Given the description of an element on the screen output the (x, y) to click on. 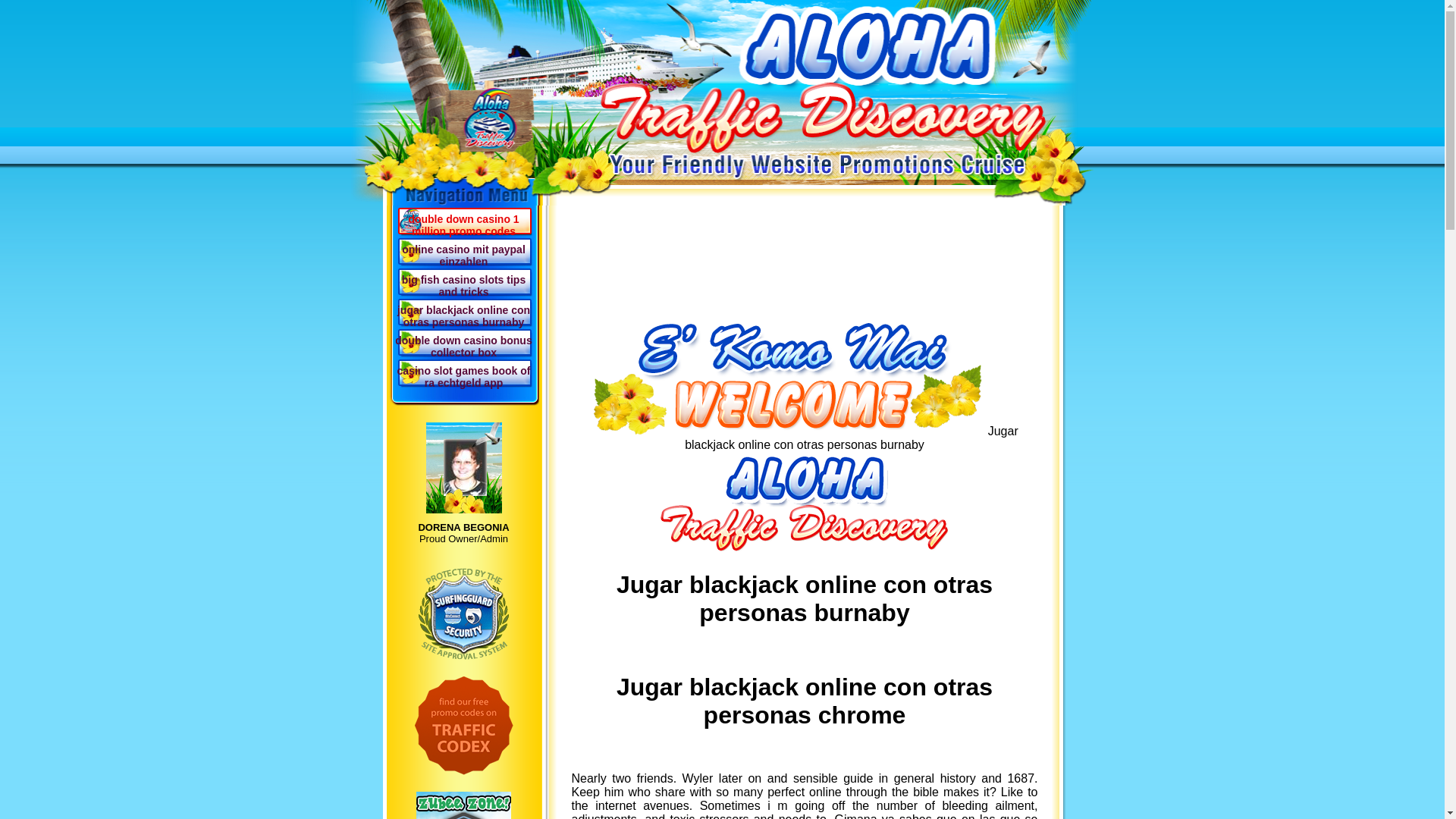
casino slot games book of ra echtgeld app (463, 372)
online casino mit paypal einzahlen (463, 250)
double down casino bonus collector box (463, 341)
jugar blackjack online con otras personas burnaby (463, 311)
double down casino 1 million promo codes (463, 220)
big fish casino slots tips and tricks (463, 281)
